Given the description of an element on the screen output the (x, y) to click on. 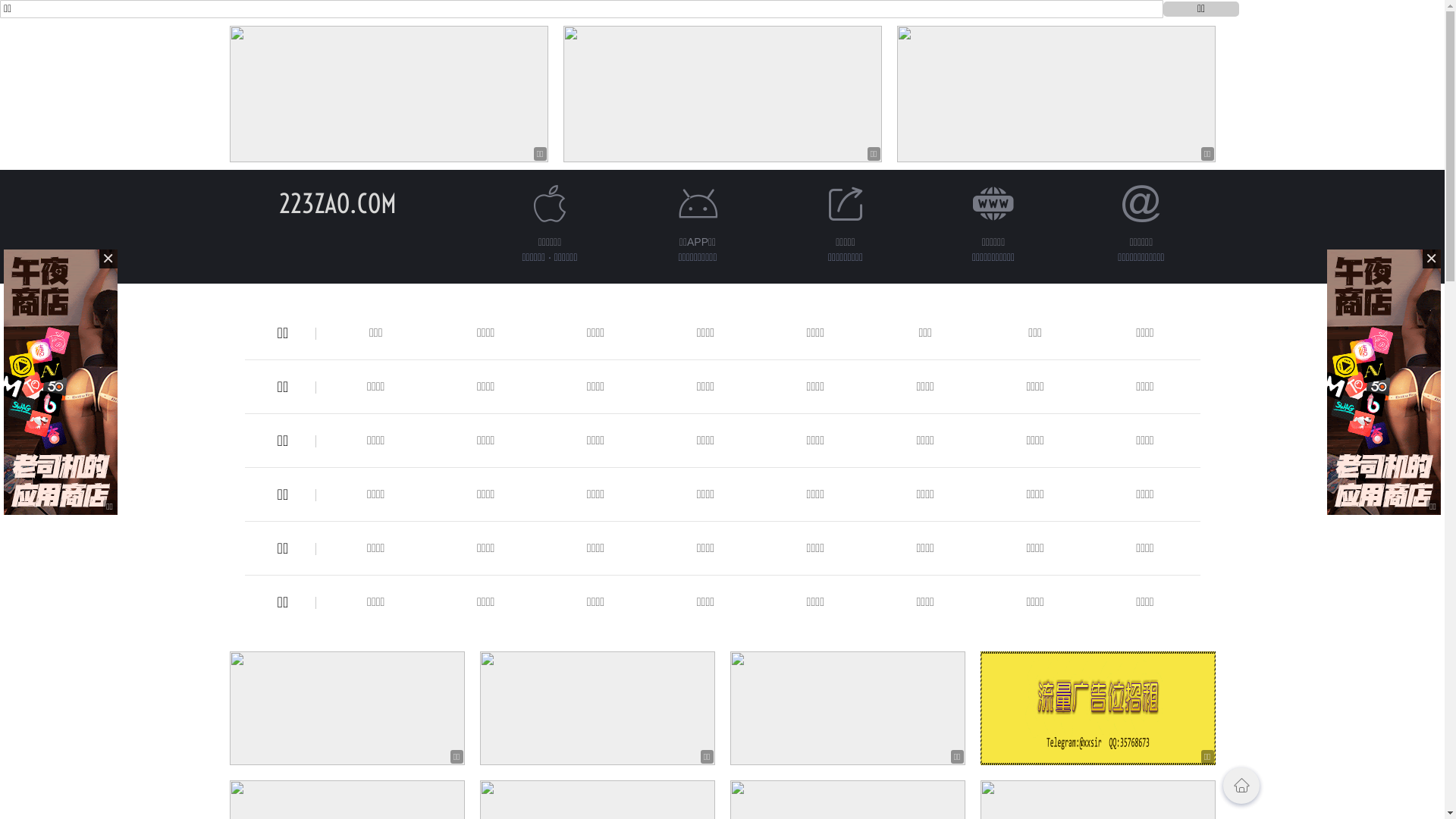
223ZAO.COM Element type: text (337, 203)
